Given the description of an element on the screen output the (x, y) to click on. 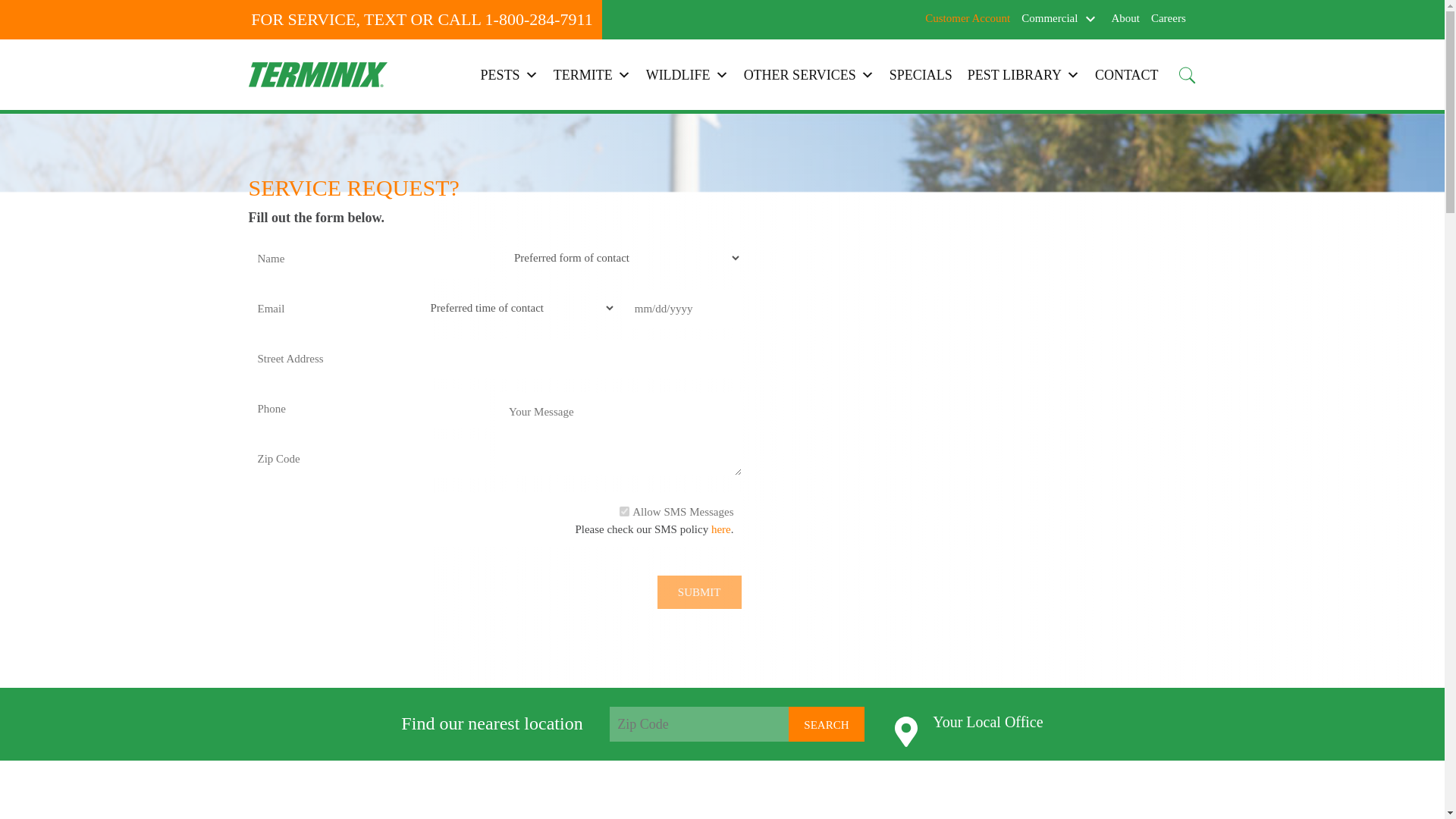
Customer Account (967, 18)
1-800-284-7911 (538, 19)
Careers (1168, 18)
About (1125, 18)
Commercial (1049, 17)
Allow SMS Messages (624, 511)
Submit (699, 592)
PESTS (509, 73)
